Given the description of an element on the screen output the (x, y) to click on. 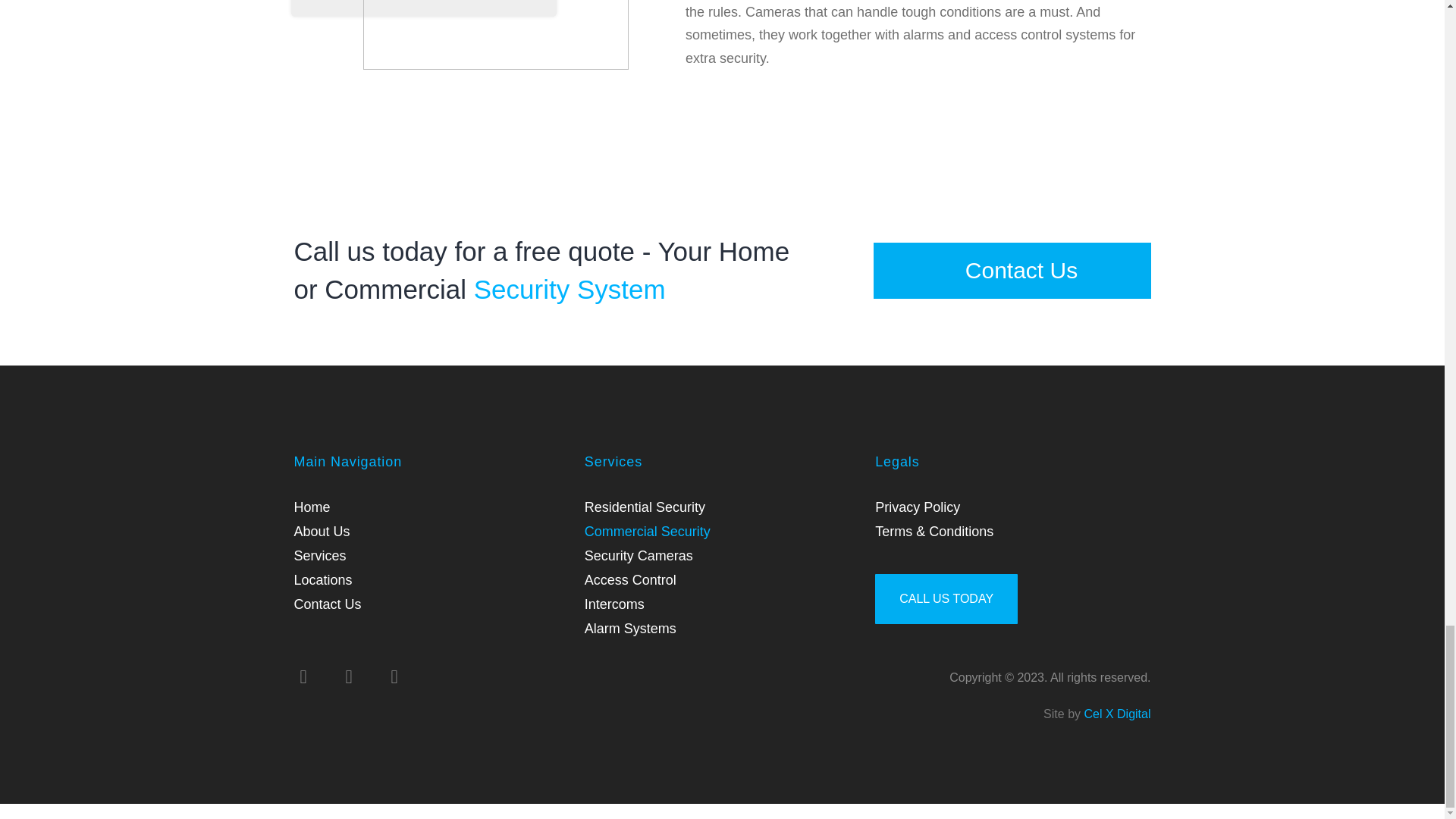
About Us (322, 531)
Privacy Policy (917, 507)
Access Control (631, 580)
Security Cameras (639, 555)
Services (320, 555)
Intercoms (615, 604)
Locations (323, 580)
Commercial Security (647, 531)
Residential Security (644, 507)
Cel X Digital (1116, 713)
Contact Us (1012, 270)
Home (312, 507)
Alarm Systems (631, 628)
Contact Us (327, 604)
CALL US TODAY (946, 599)
